Given the description of an element on the screen output the (x, y) to click on. 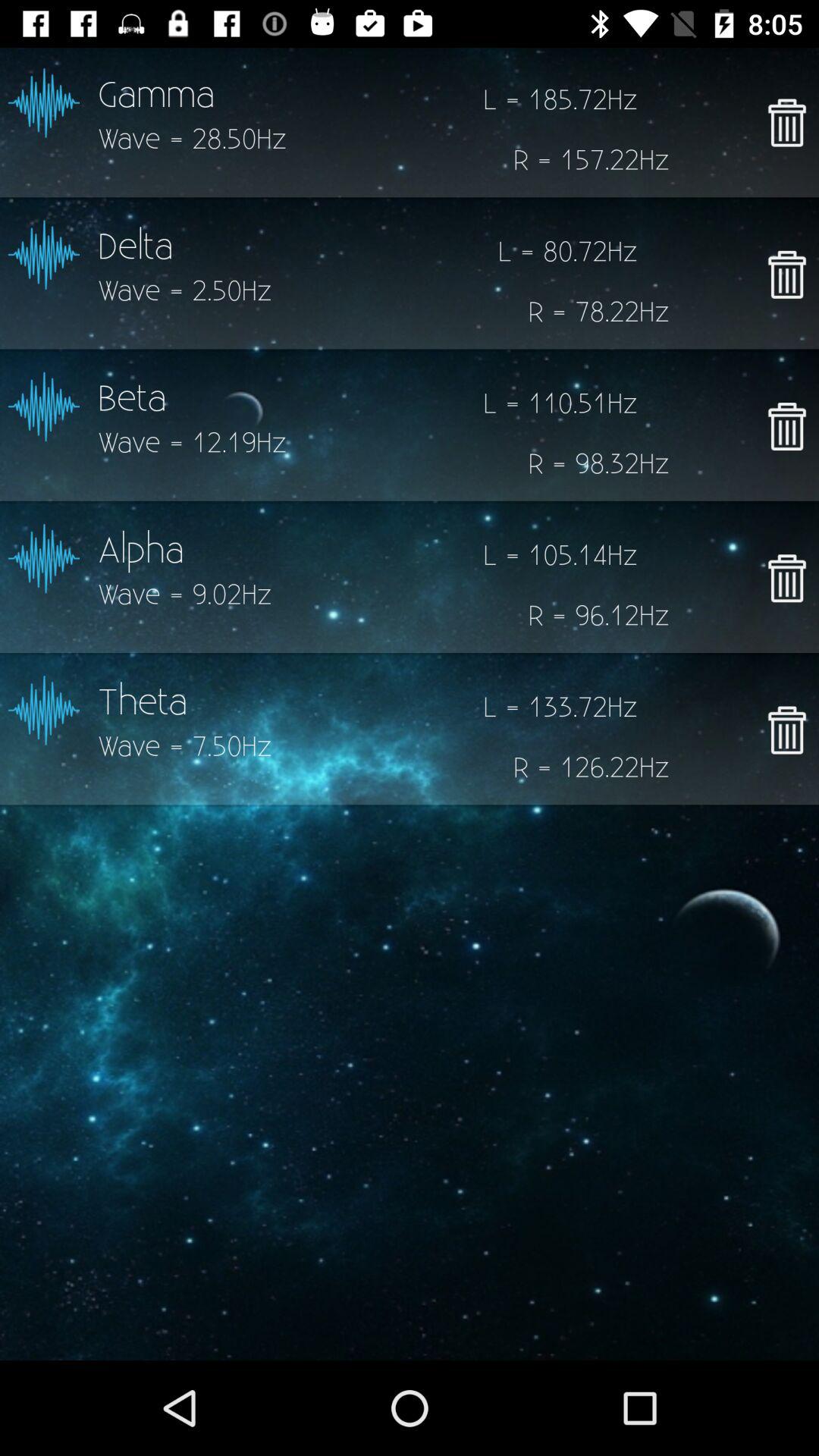
delete current selection (787, 122)
